Given the description of an element on the screen output the (x, y) to click on. 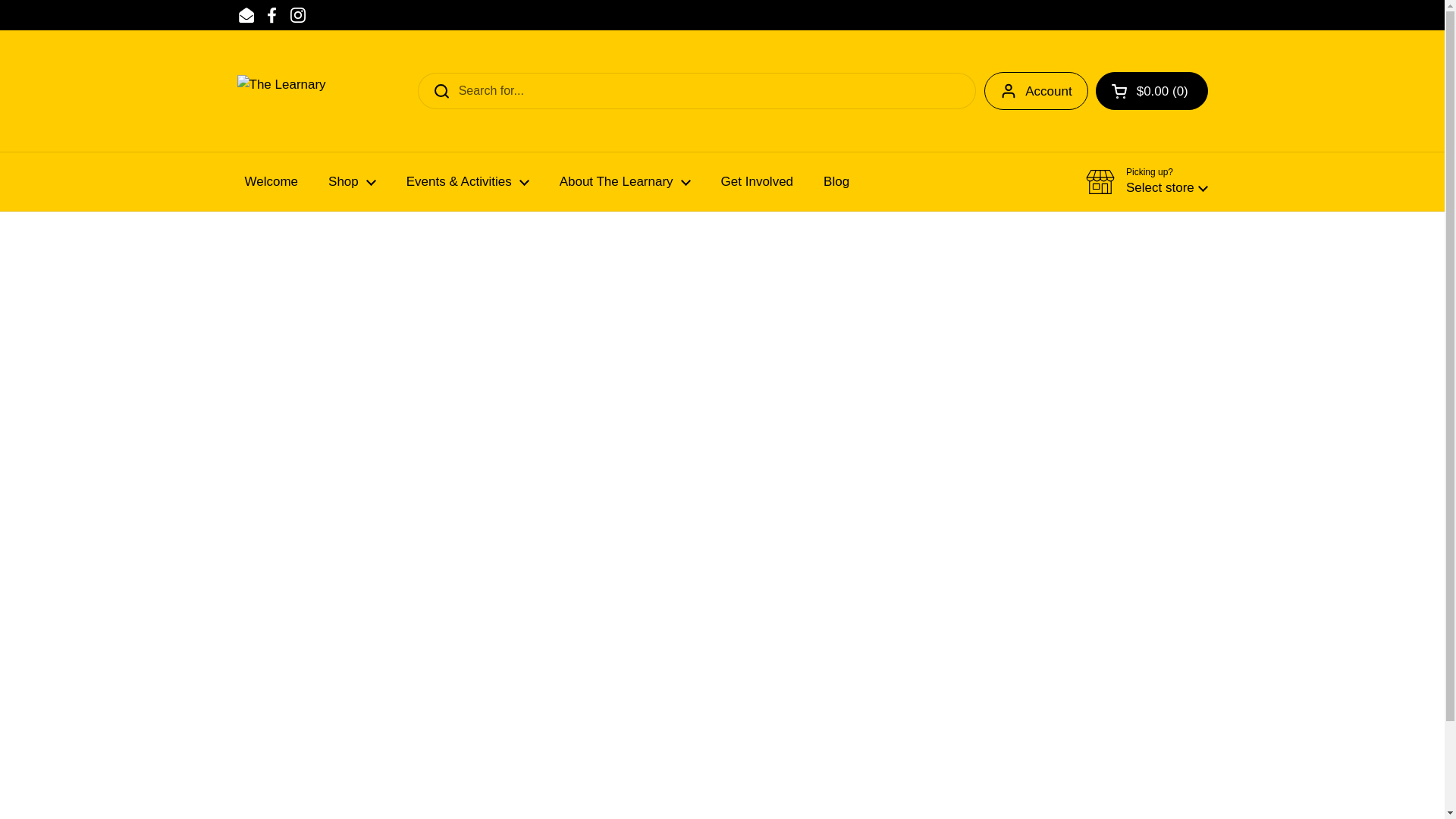
Instagram (296, 14)
Welcome (270, 181)
Account (1035, 90)
Email (244, 14)
The Learnary (340, 90)
Facebook (271, 14)
Shop (352, 181)
Open cart (1152, 90)
